Given the description of an element on the screen output the (x, y) to click on. 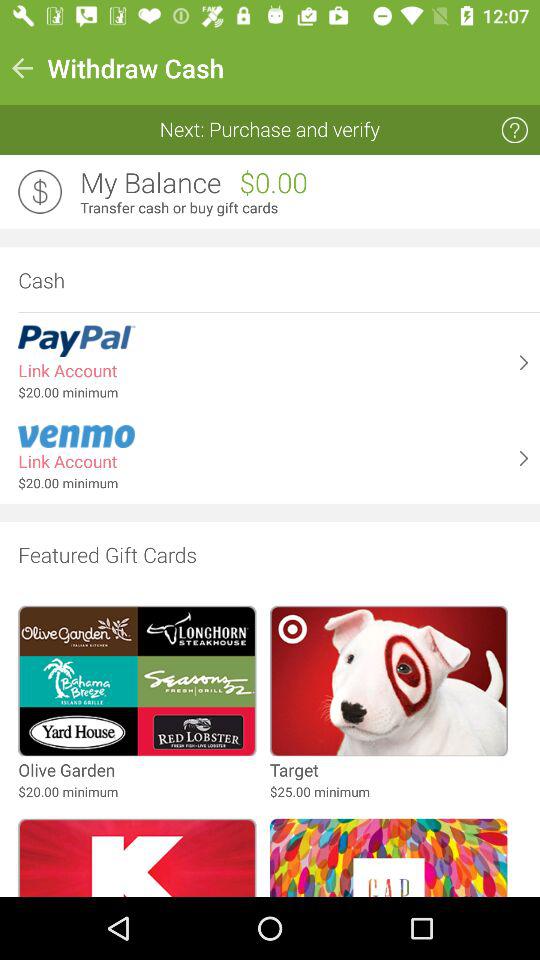
scroll until target item (294, 770)
